Given the description of an element on the screen output the (x, y) to click on. 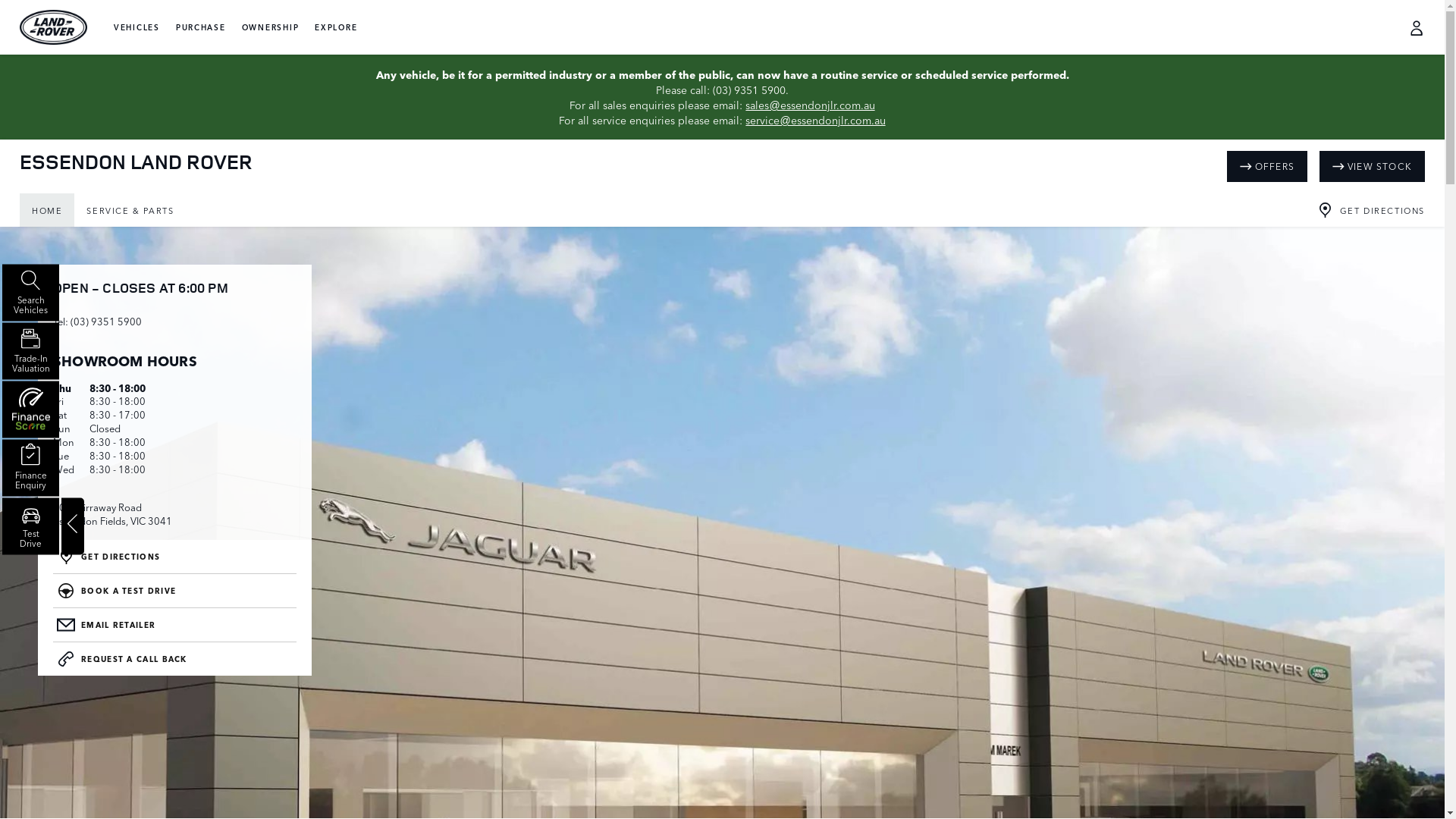
Finance
Enquiry Element type: text (30, 467)
SERVICE & PARTS Element type: text (129, 209)
service@essendonjlr.com.au Element type: text (814, 119)
GET DIRECTIONS
LINK OPENS IN NEW TAB Element type: text (1373, 209)
Test
Drive Element type: text (30, 525)
OFFERS Element type: text (1266, 166)
EMAIL RETAILER
Link Opens in New Tab Element type: text (174, 625)
Trade-In
Valuation Element type: text (30, 351)
PURCHASE Element type: text (200, 27)
OWNERSHIP Element type: text (270, 27)
REQUEST A CALL BACK Element type: text (174, 658)
Search
Vehicles Element type: text (30, 291)
VEHICLES Element type: text (136, 27)
sales@essendonjlr.com.au Element type: text (809, 104)
BOOK A TEST DRIVE
Link Opens in New Tab Element type: text (174, 591)
GET DIRECTIONS
Link Opens in New Tab Element type: text (174, 556)
EXPLORE Element type: text (335, 27)
VIEW STOCK Element type: text (1371, 166)
HOME Element type: text (46, 209)
